Given the description of an element on the screen output the (x, y) to click on. 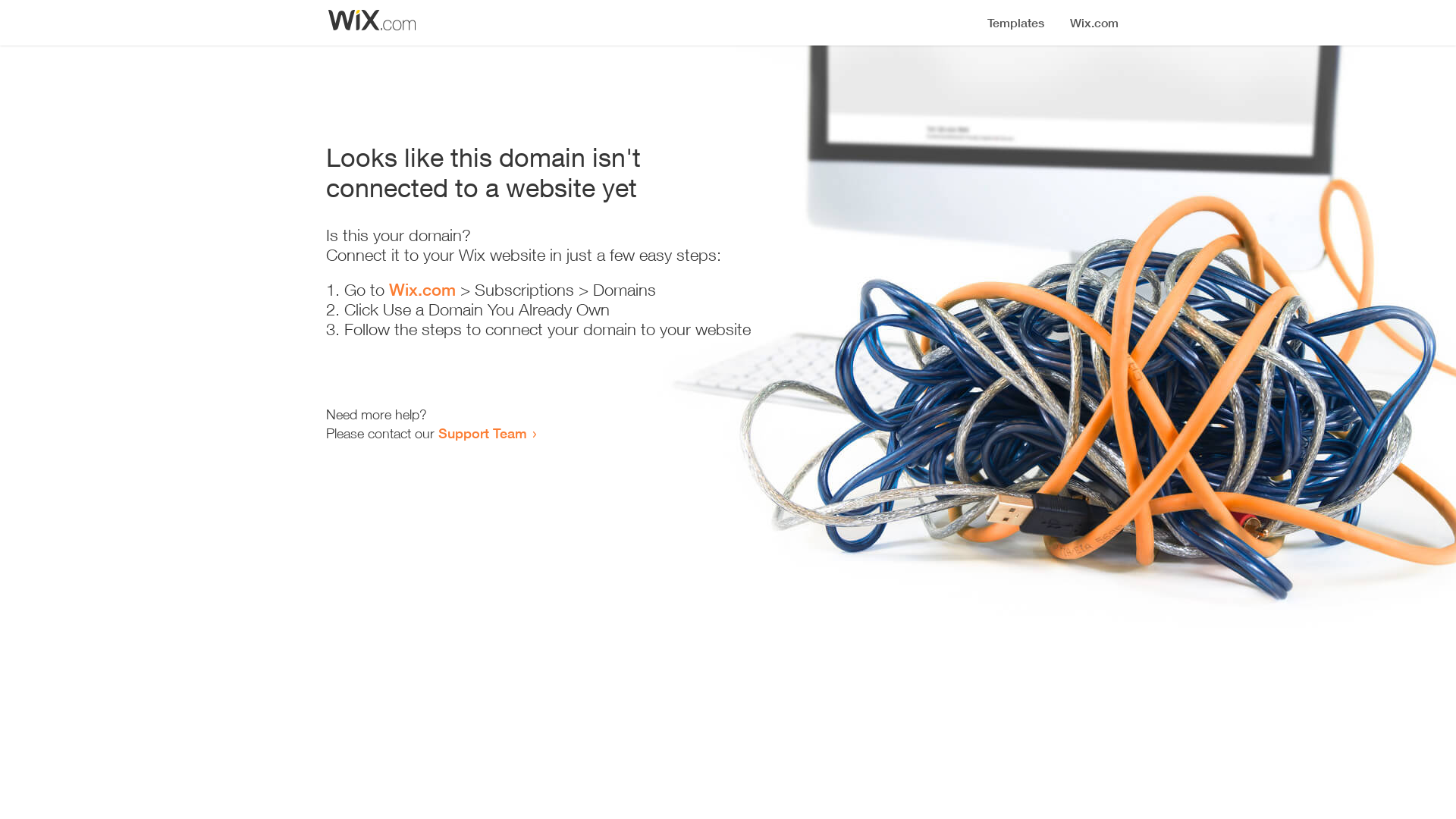
Support Team Element type: text (482, 432)
Wix.com Element type: text (422, 289)
